Given the description of an element on the screen output the (x, y) to click on. 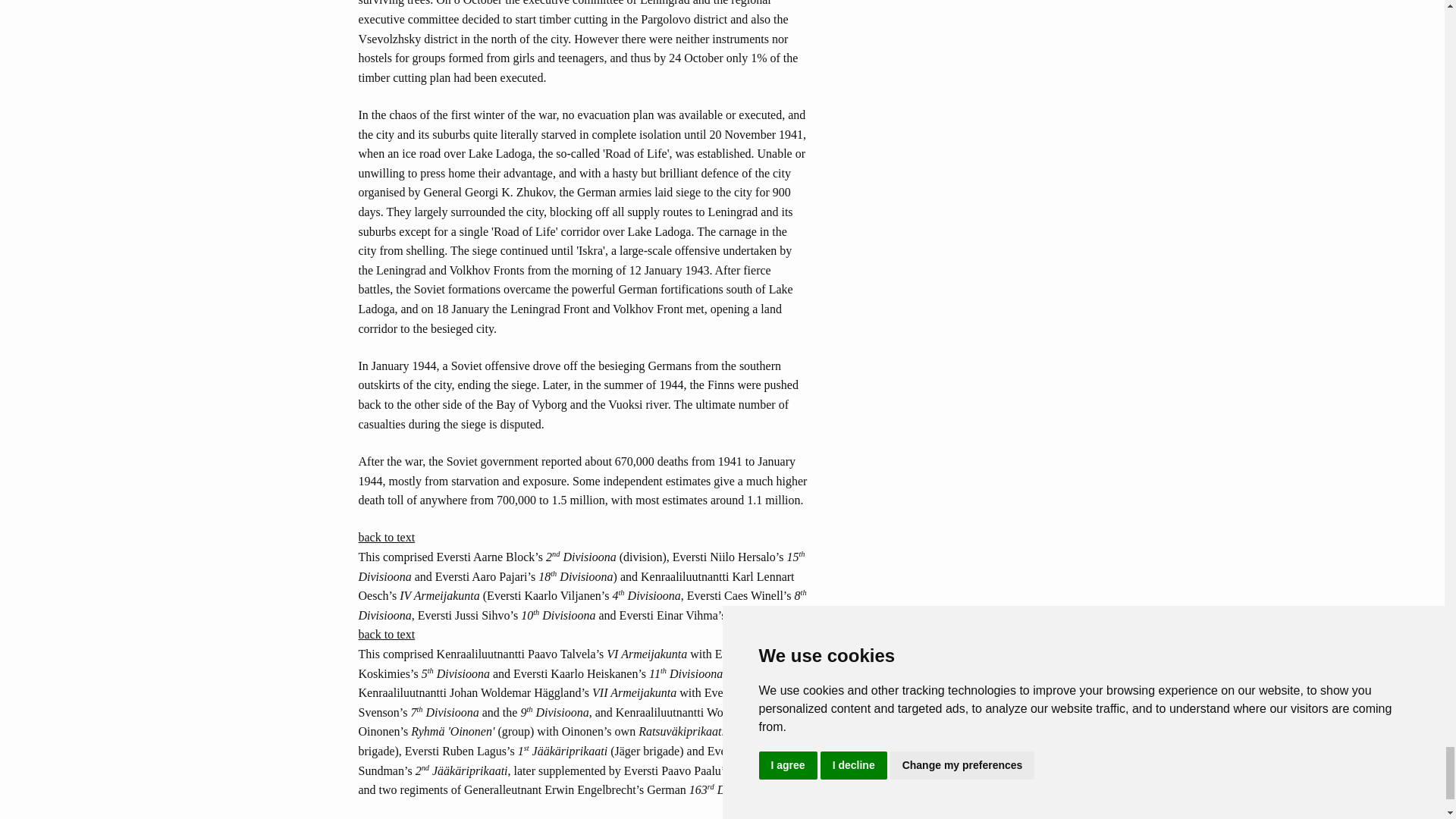
back to text (386, 634)
back to text (386, 536)
